Given the description of an element on the screen output the (x, y) to click on. 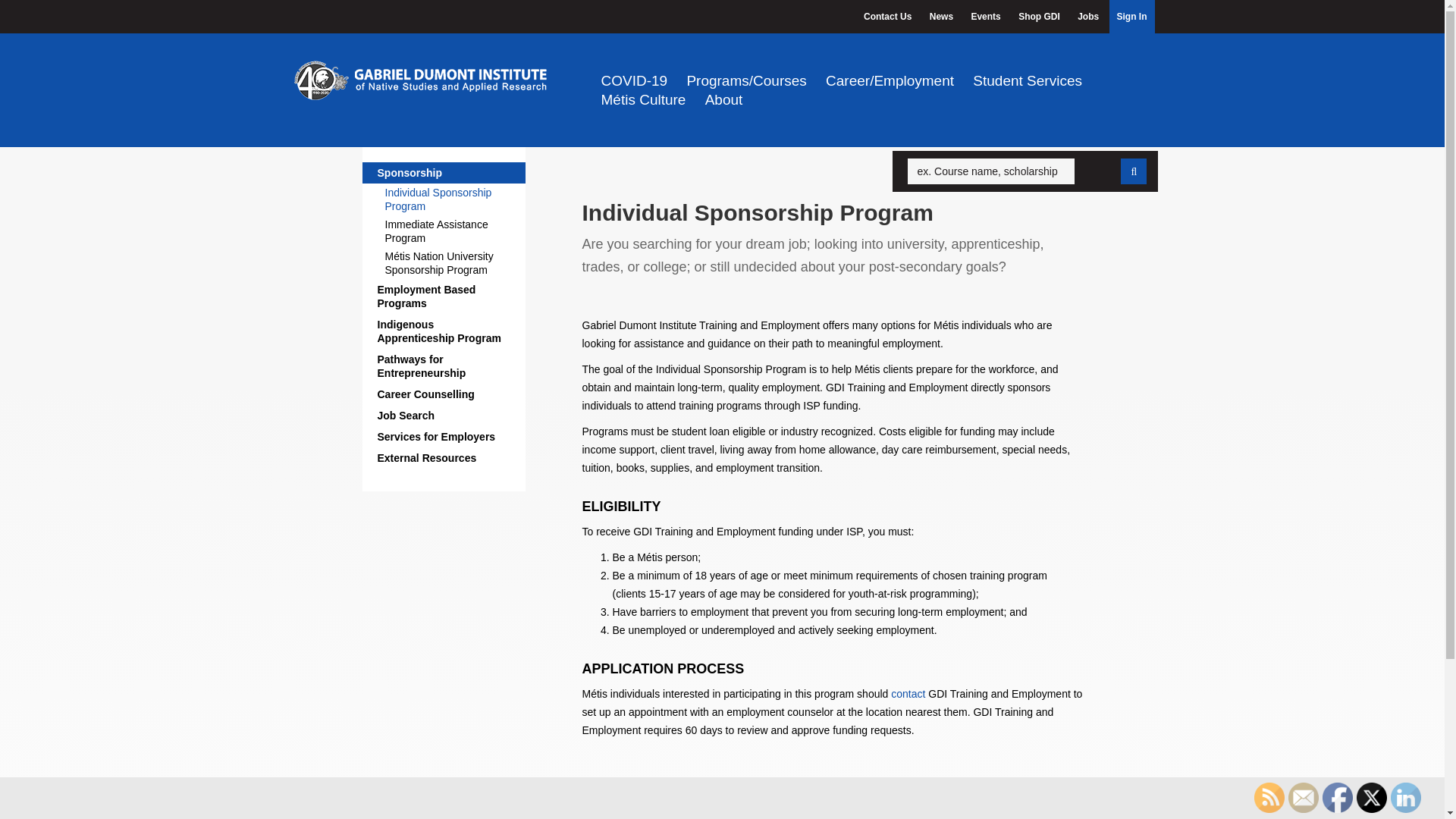
Career Counselling (443, 394)
Jobs (1088, 16)
Follow by Email (1303, 797)
News (940, 16)
Twitter (1371, 797)
Sponsorship (443, 172)
Student Services (1026, 80)
Contact Us (907, 693)
Immediate Assistance Program (451, 230)
About (723, 99)
